Given the description of an element on the screen output the (x, y) to click on. 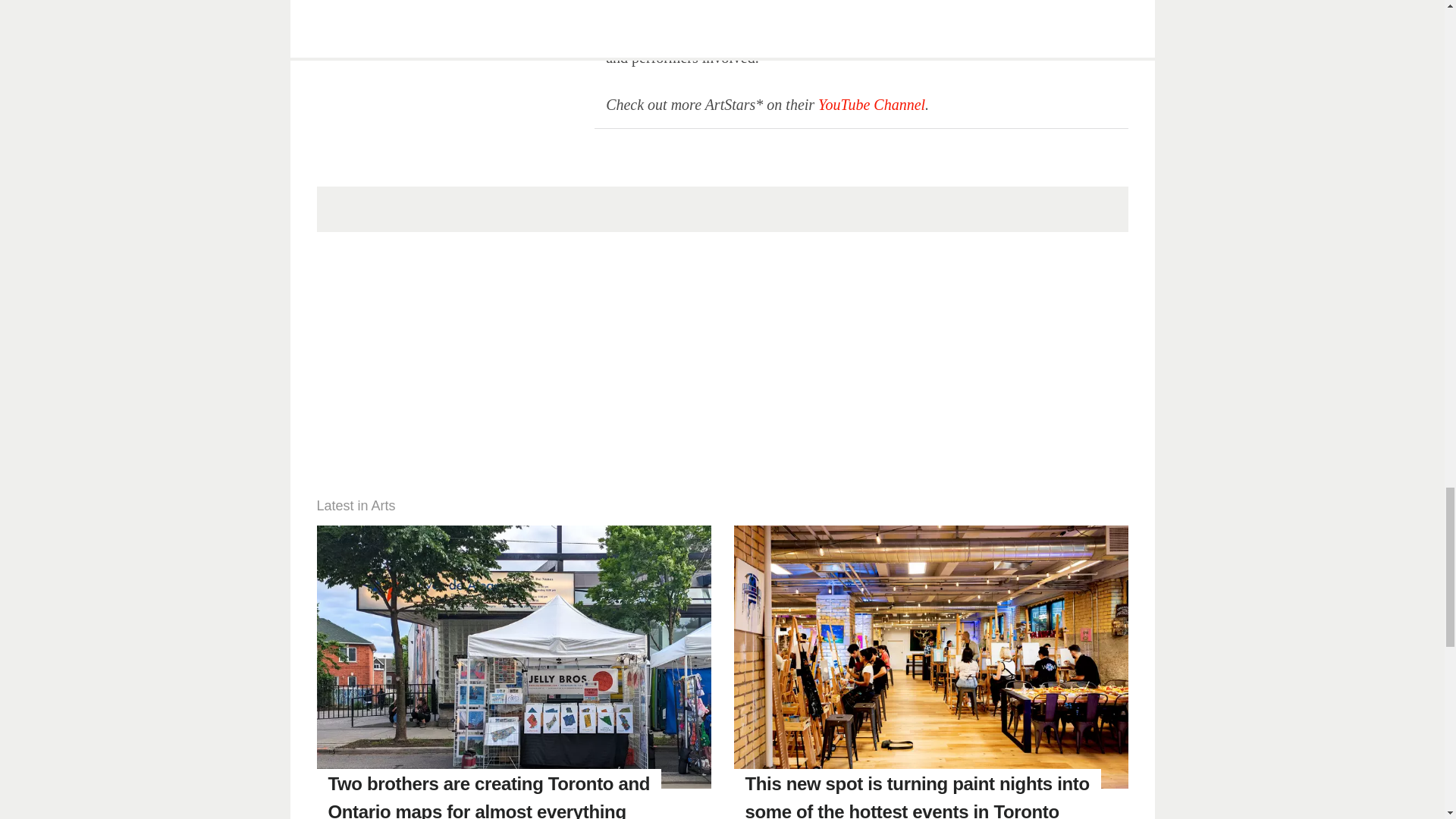
YouTube Channel (871, 104)
